Given the description of an element on the screen output the (x, y) to click on. 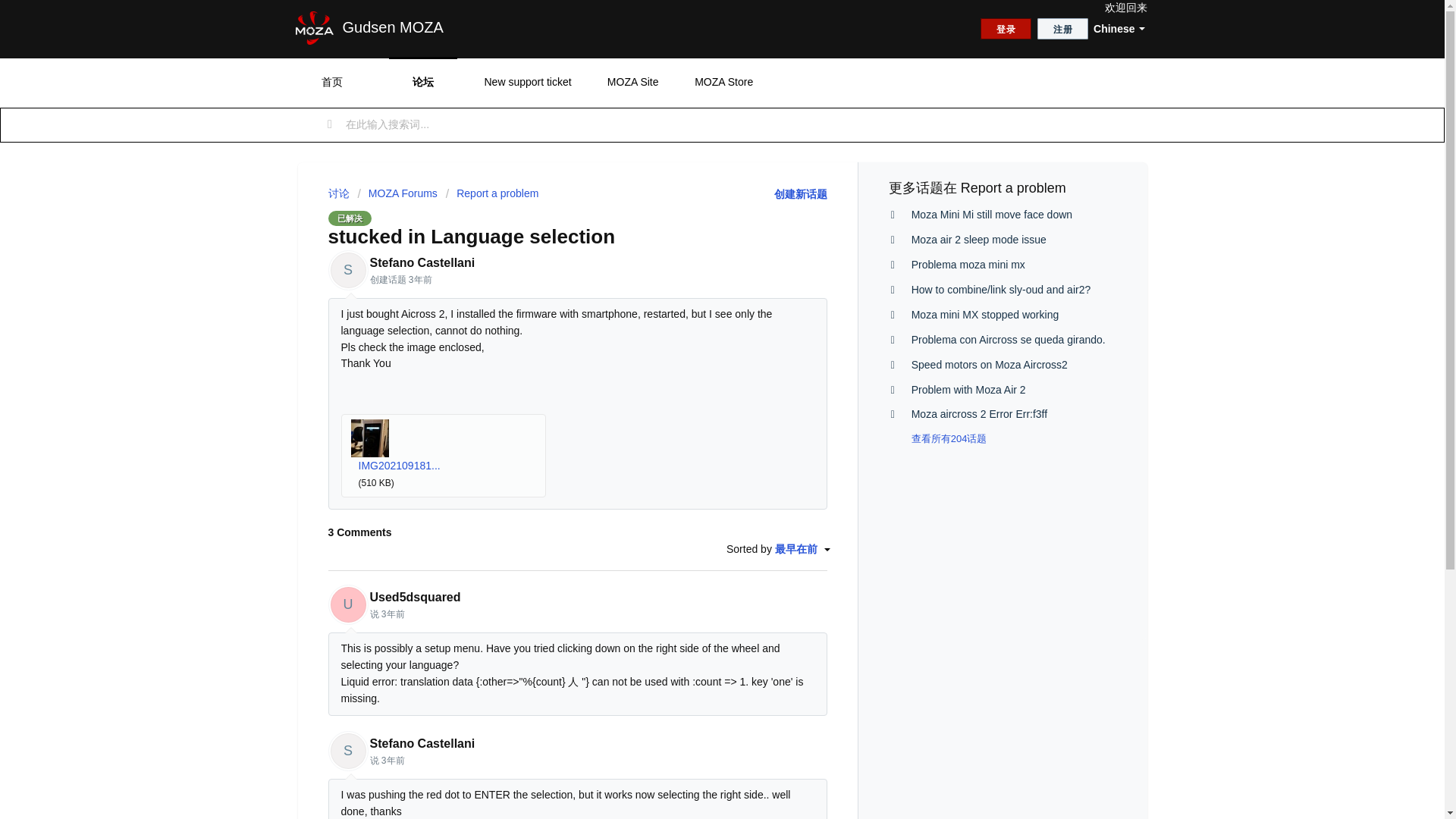
Moza mini MX stopped working (985, 314)
MOZA Store (724, 81)
MOZA Site (632, 81)
Problema moza mini mx (968, 264)
Problem with Moza Air 2 (968, 389)
back to MOZA Store (632, 81)
Moza aircross 2 Error Err:f3ff (978, 413)
Moza Mini Mi still move face down (991, 214)
Report a problem (491, 193)
New support ticket (527, 81)
Problema con Aircross se queda girando. (1008, 339)
Speed motors on Moza Aircross2 (989, 364)
back to MOZA Store (724, 81)
Moza air 2 sleep mode issue (978, 239)
MOZA Forums (396, 193)
